Given the description of an element on the screen output the (x, y) to click on. 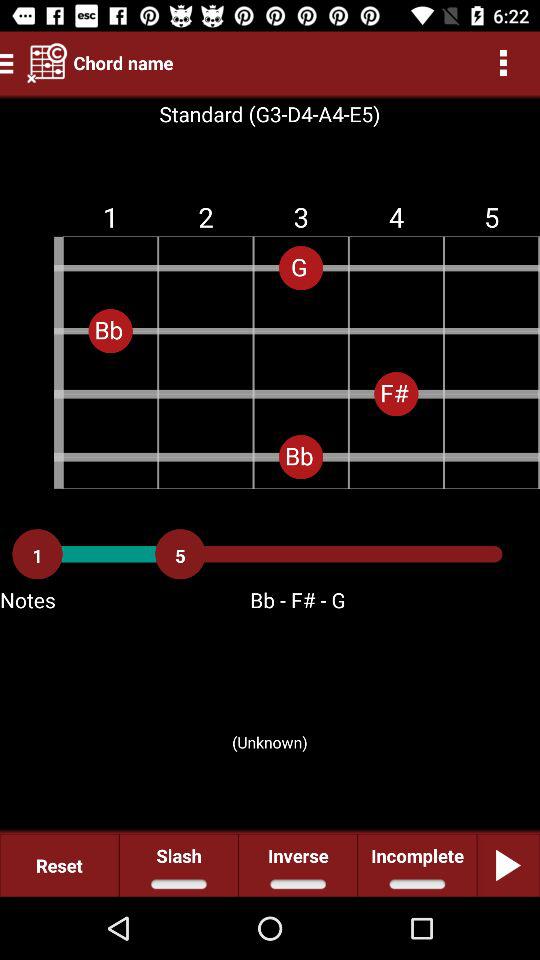
swipe until the incomplete item (416, 864)
